Given the description of an element on the screen output the (x, y) to click on. 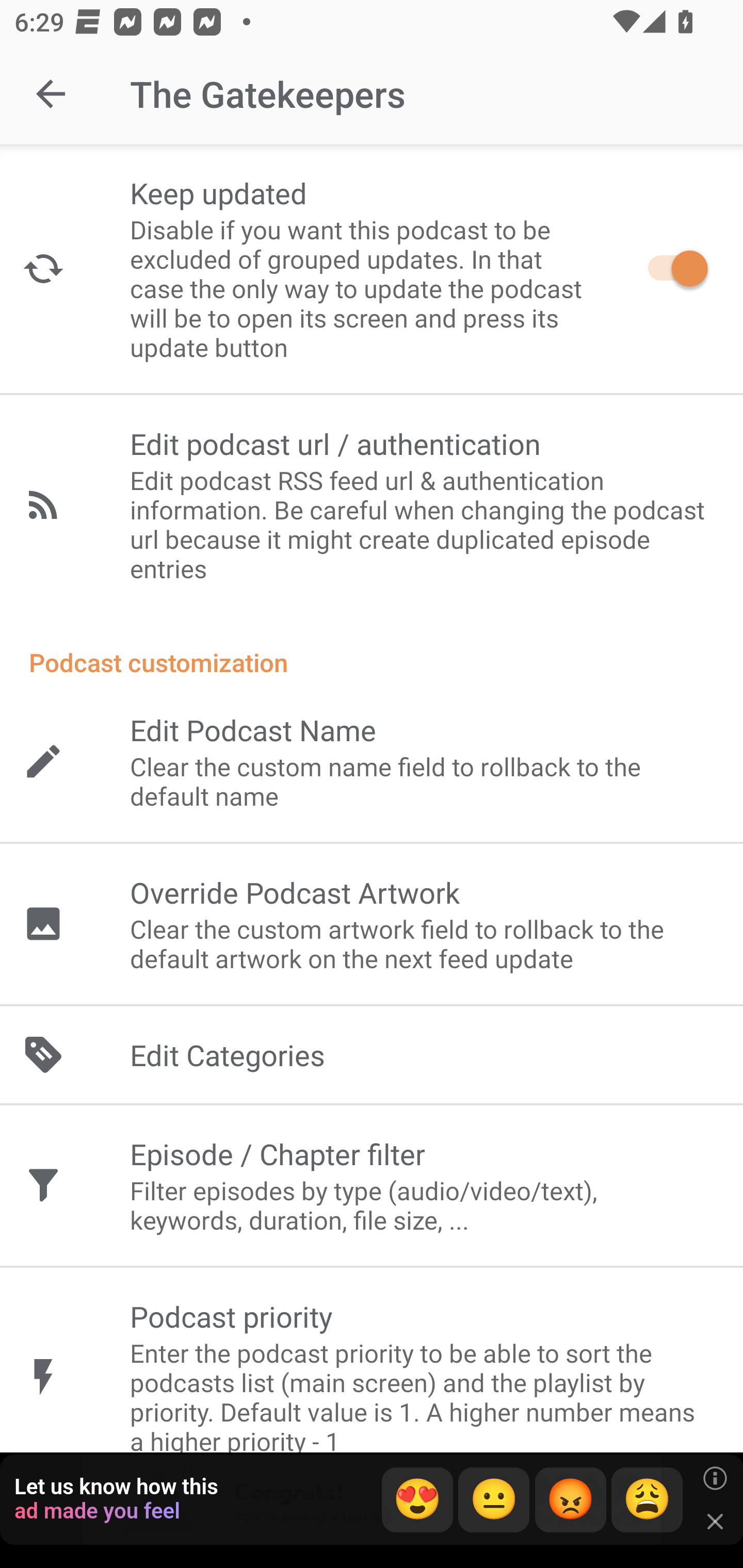
Navigate up (50, 93)
Edit Categories (371, 1054)
app-monetization (371, 1500)
😍 (416, 1499)
😐 (493, 1499)
😡 (570, 1499)
😩 (647, 1499)
